Given the description of an element on the screen output the (x, y) to click on. 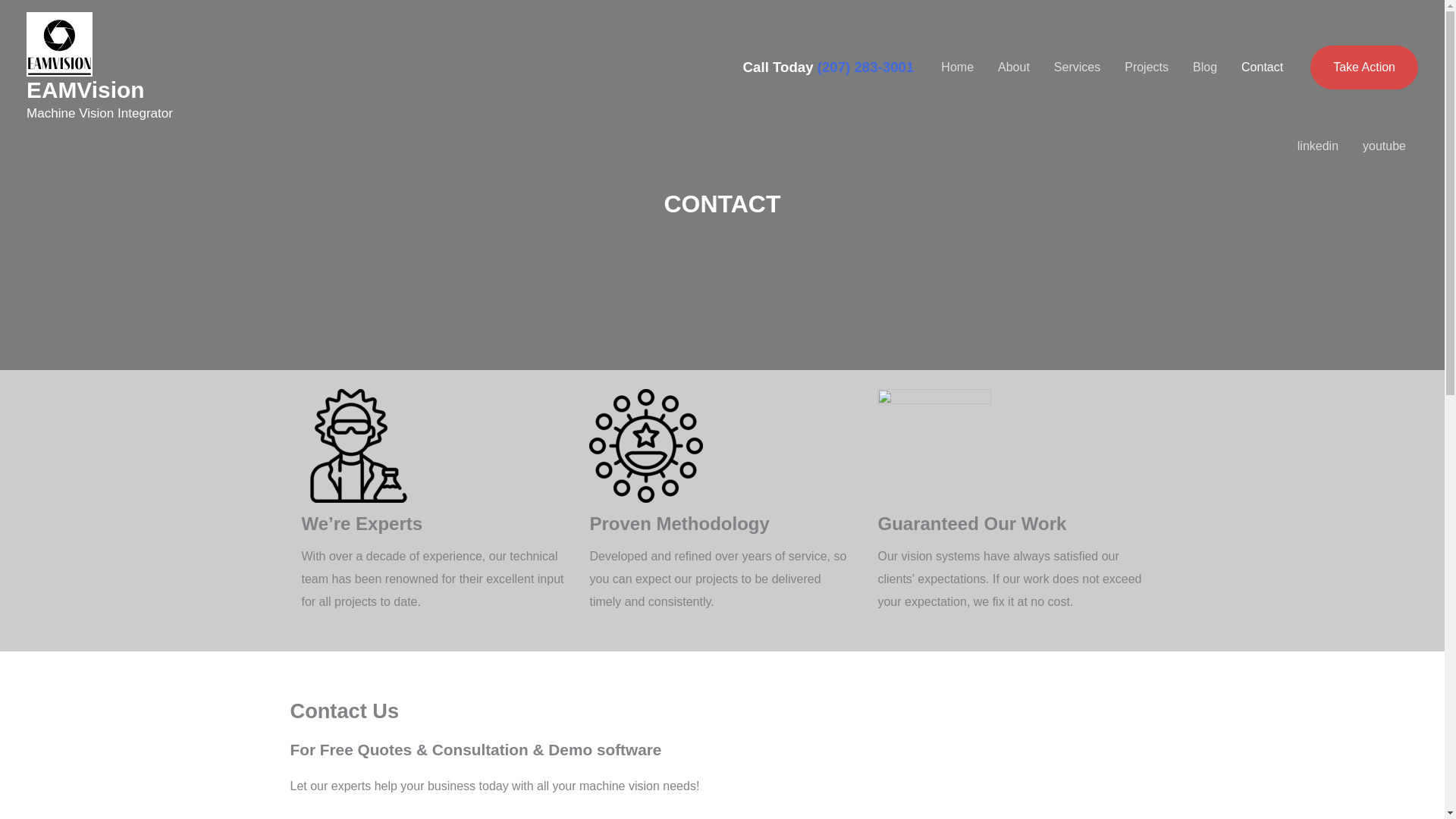
linkedin (1318, 146)
Home (956, 67)
Services (1077, 67)
Blog (1204, 67)
Projects (1146, 67)
youtube (1384, 146)
EAMVision (85, 89)
Contact (1261, 67)
About (1013, 67)
Take Action (1364, 67)
